Given the description of an element on the screen output the (x, y) to click on. 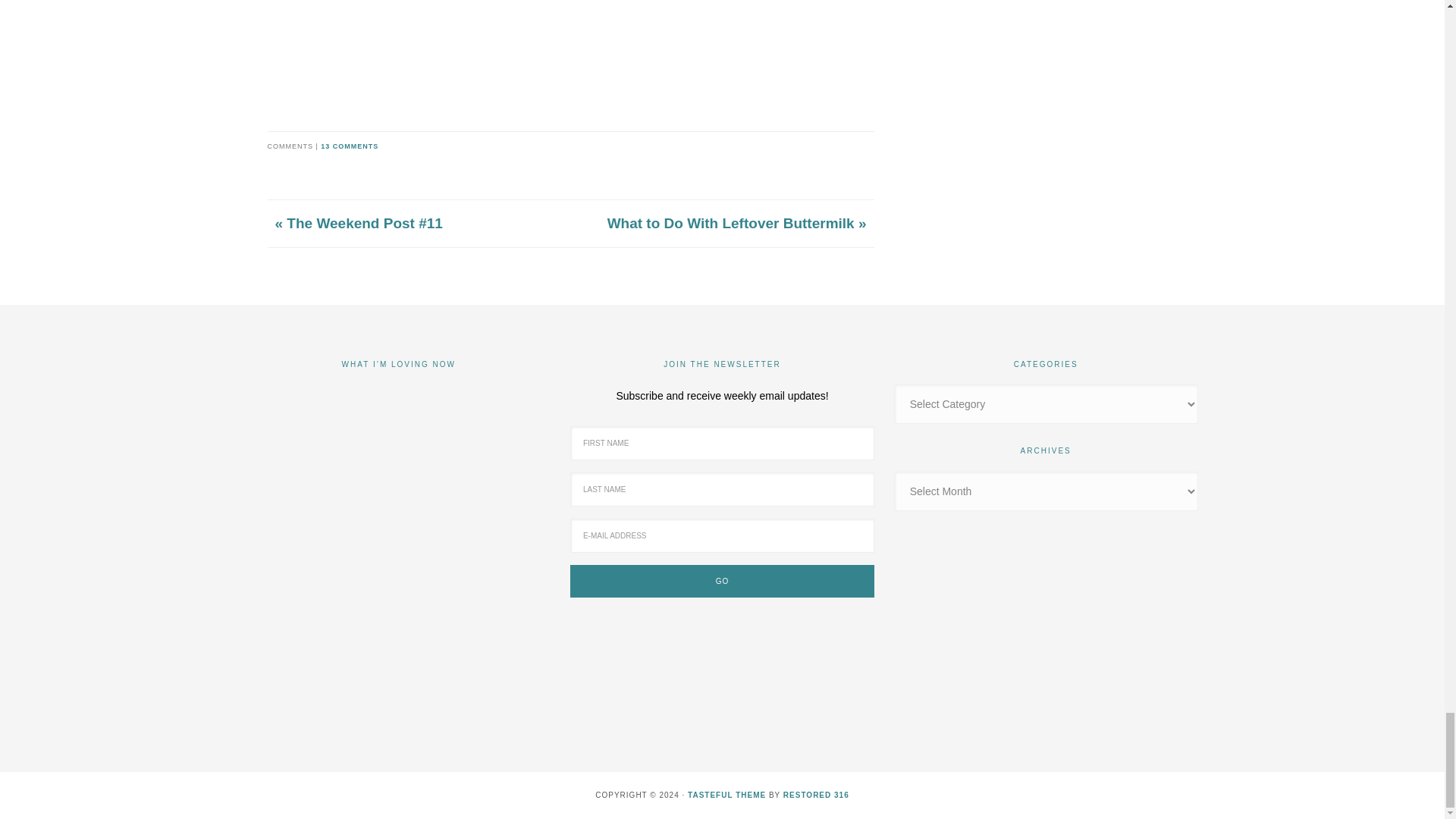
Go (722, 581)
